Given the description of an element on the screen output the (x, y) to click on. 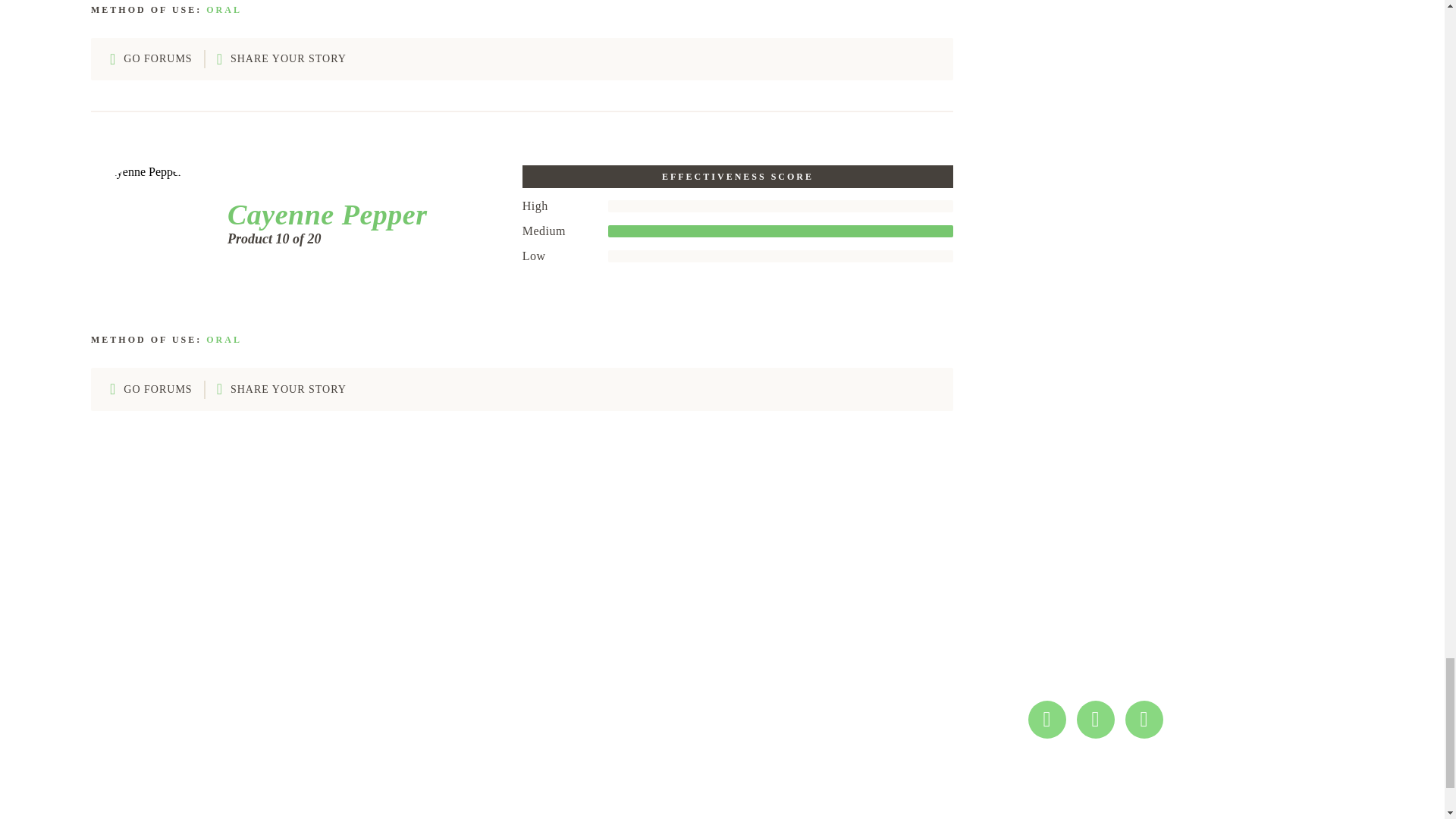
Cayenne Pepper (321, 214)
GO FORUMS (151, 389)
GO FORUMS (151, 59)
SHARE YOUR STORY (281, 389)
SHARE YOUR STORY (281, 59)
